Given the description of an element on the screen output the (x, y) to click on. 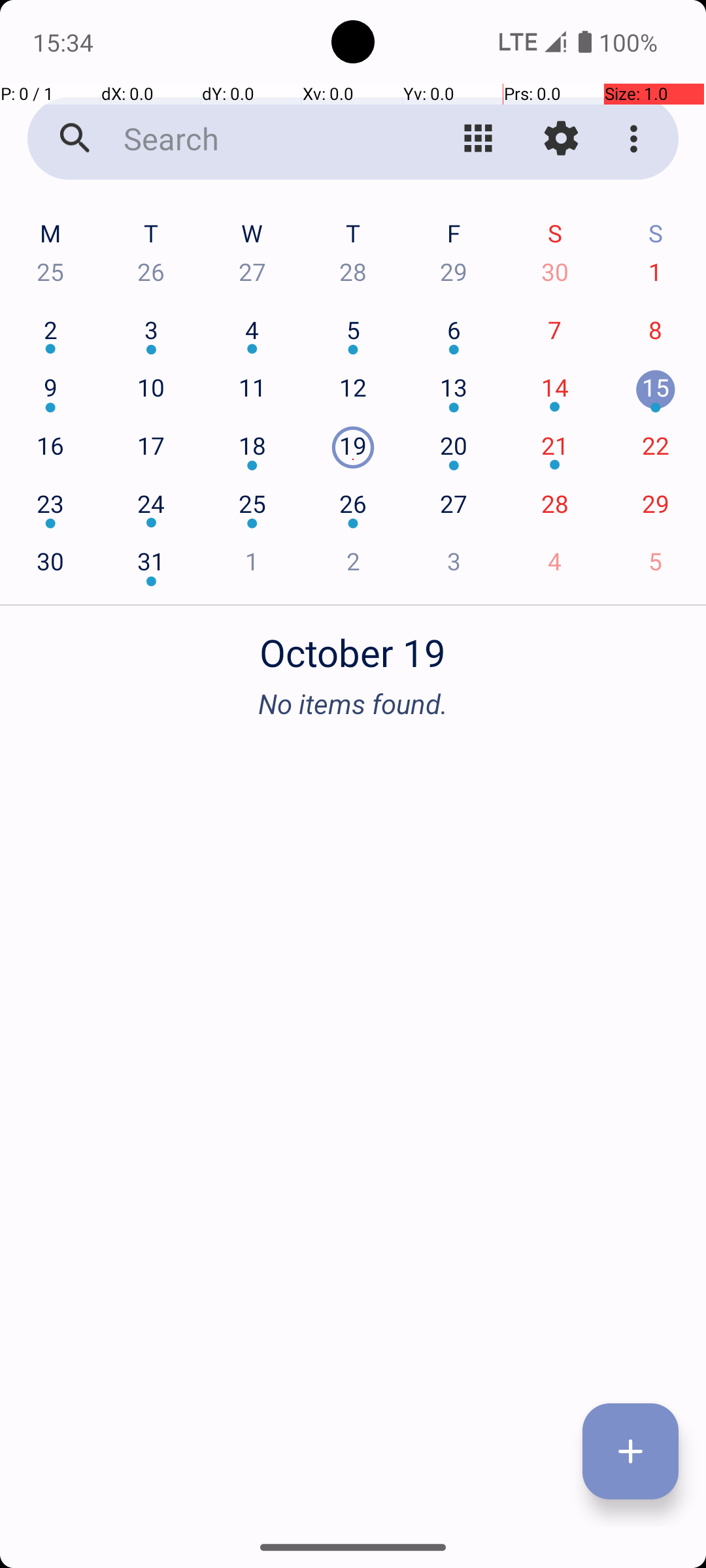
October 19 Element type: android.widget.TextView (352, 644)
